Given the description of an element on the screen output the (x, y) to click on. 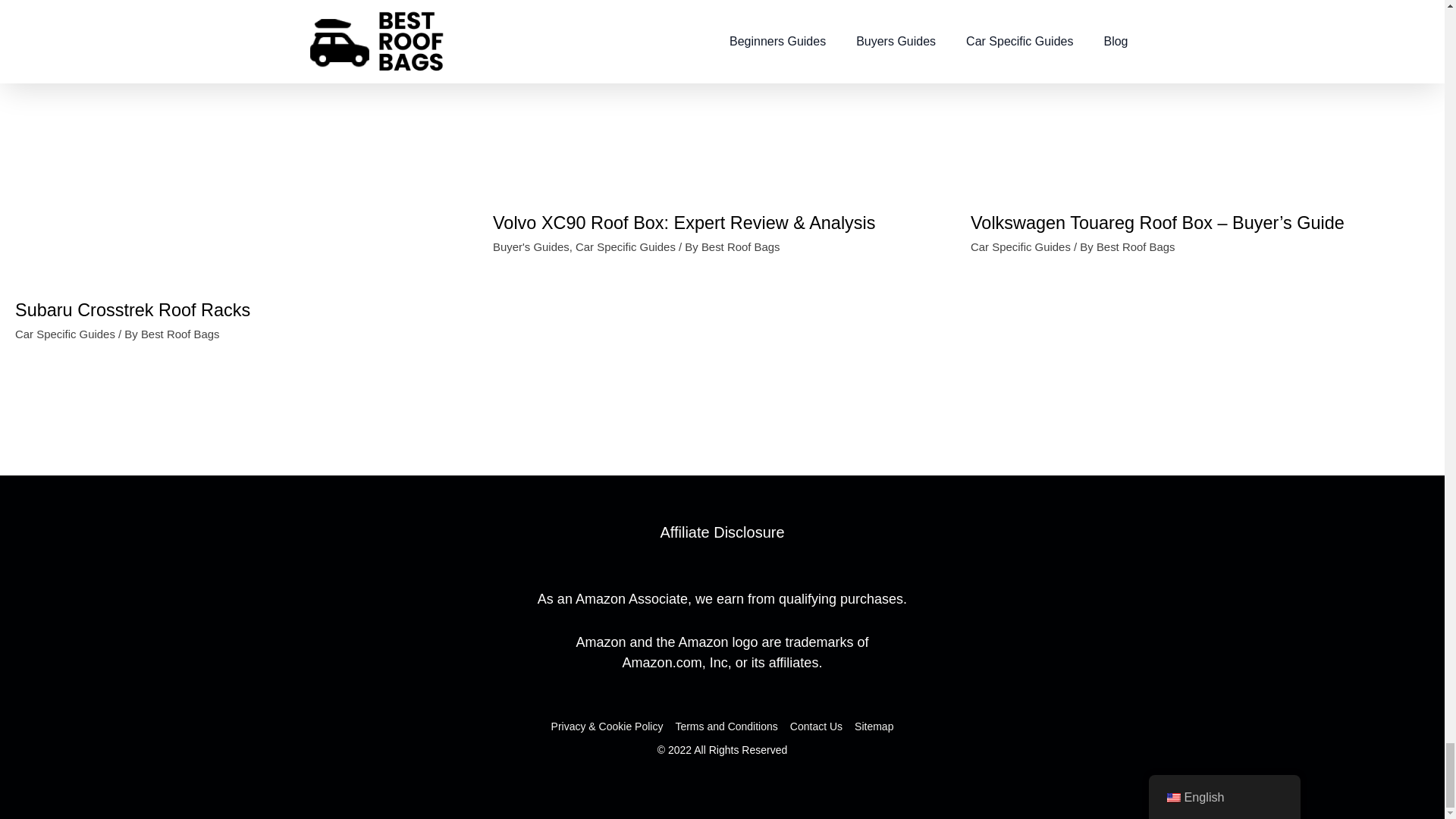
View all posts by Best Roof Bags (740, 246)
View all posts by Best Roof Bags (180, 332)
Subaru Crosstrek Roof Racks 7 (244, 144)
View all posts by Best Roof Bags (1135, 246)
